Given the description of an element on the screen output the (x, y) to click on. 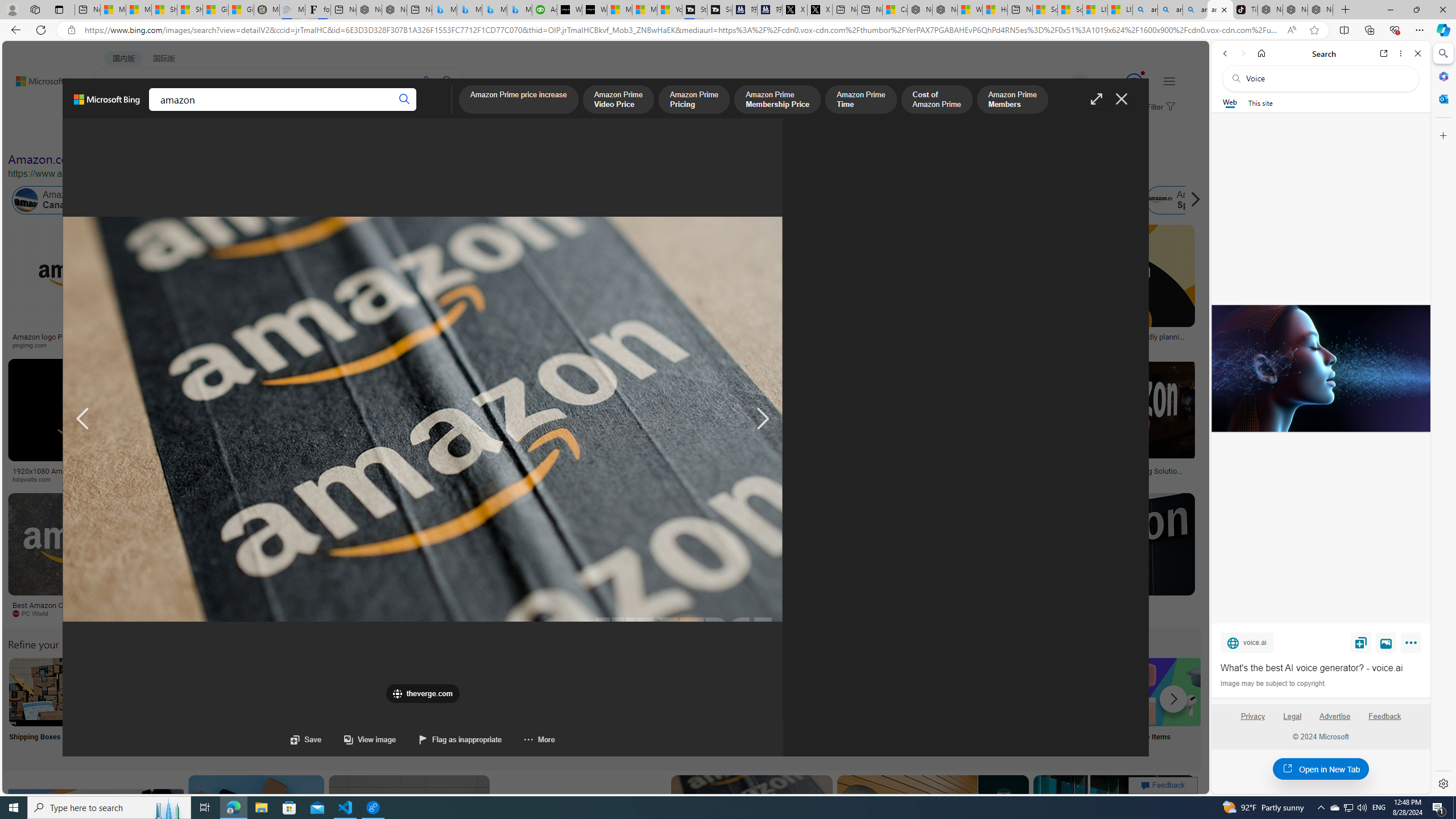
Amazon Labor Law Violation in California (564, 200)
MORE (443, 111)
Mini TV (794, 706)
Sale Items (1169, 706)
Best Amazon Cyber Monday deals 2019 | PCWorld (82, 608)
AutomationID: navl (82, 418)
This site scope (1259, 102)
Amazon Prime Online (172, 199)
